Given the description of an element on the screen output the (x, y) to click on. 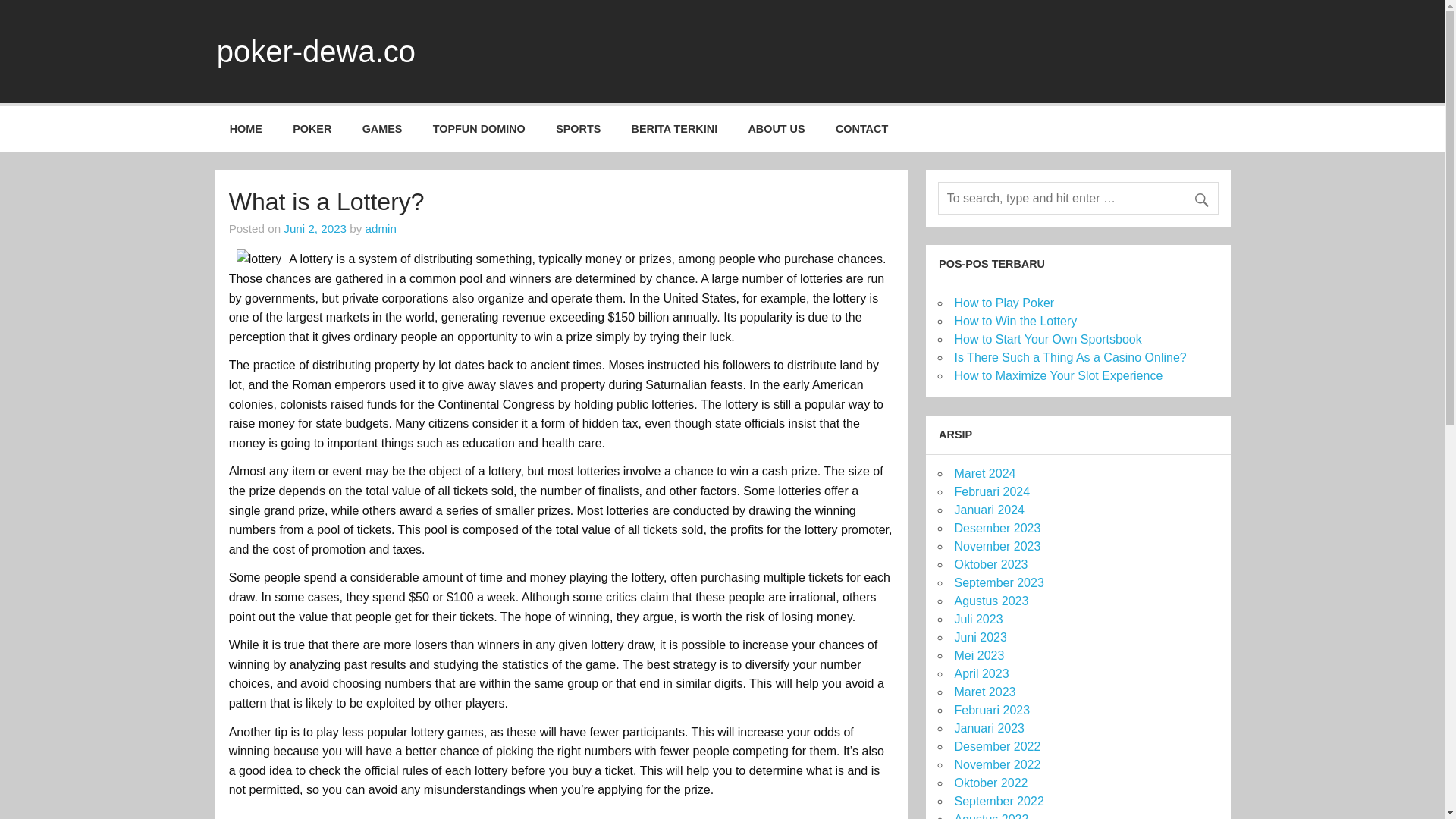
Januari 2023 (989, 727)
Maret 2023 (983, 691)
Mei 2023 (978, 655)
View all posts by admin (380, 228)
Februari 2024 (991, 491)
September 2022 (998, 800)
How to Maximize Your Slot Experience (1057, 375)
How to Play Poker (1003, 302)
Agustus 2023 (990, 600)
Oktober 2022 (990, 782)
poker-dewa.co (315, 51)
Is There Such a Thing As a Casino Online? (1069, 357)
Juni 2023 (979, 636)
Desember 2022 (997, 746)
September 2023 (998, 582)
